Given the description of an element on the screen output the (x, y) to click on. 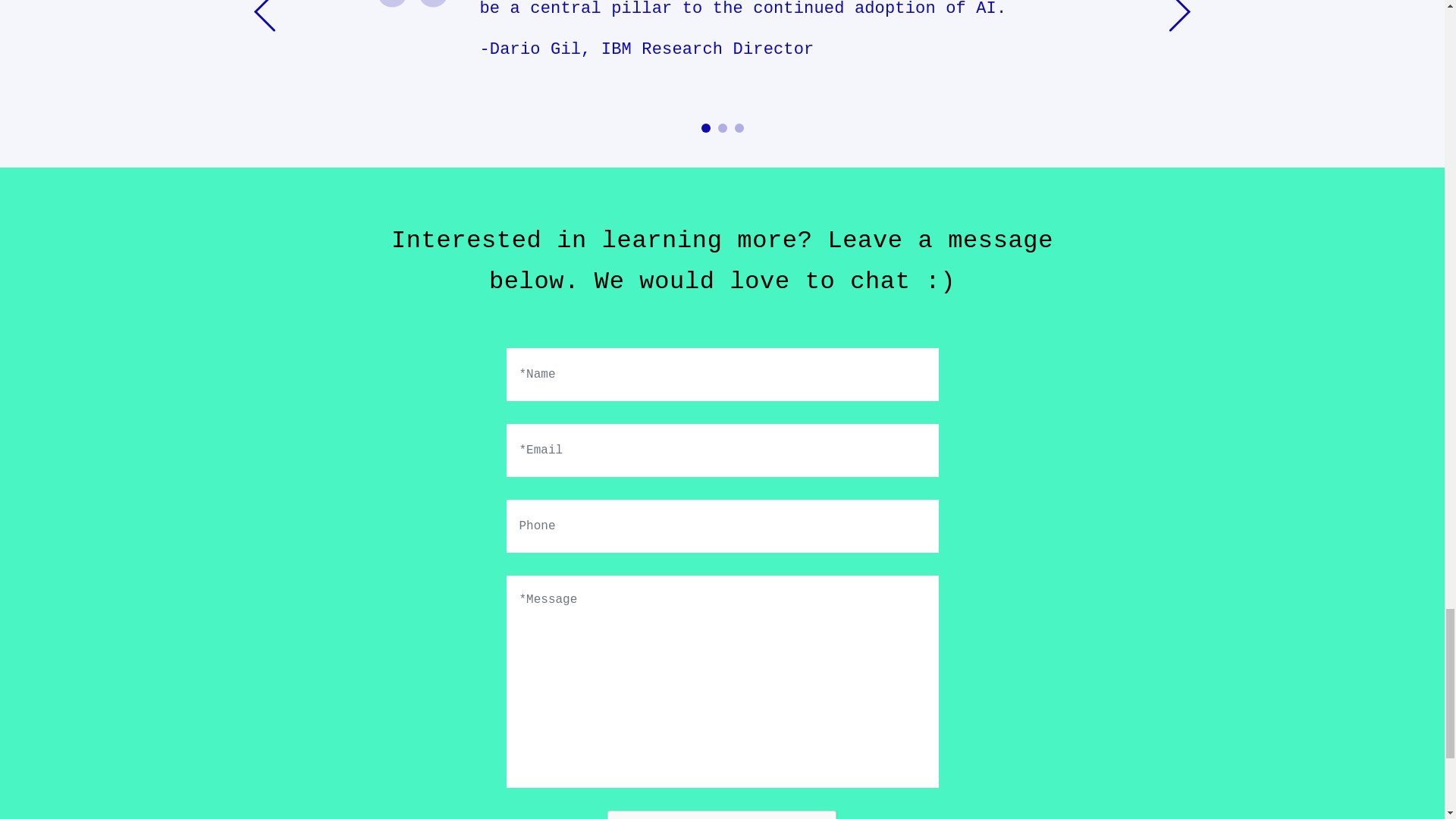
reCAPTCHA (722, 814)
Next (1179, 83)
Previous (264, 83)
